Given the description of an element on the screen output the (x, y) to click on. 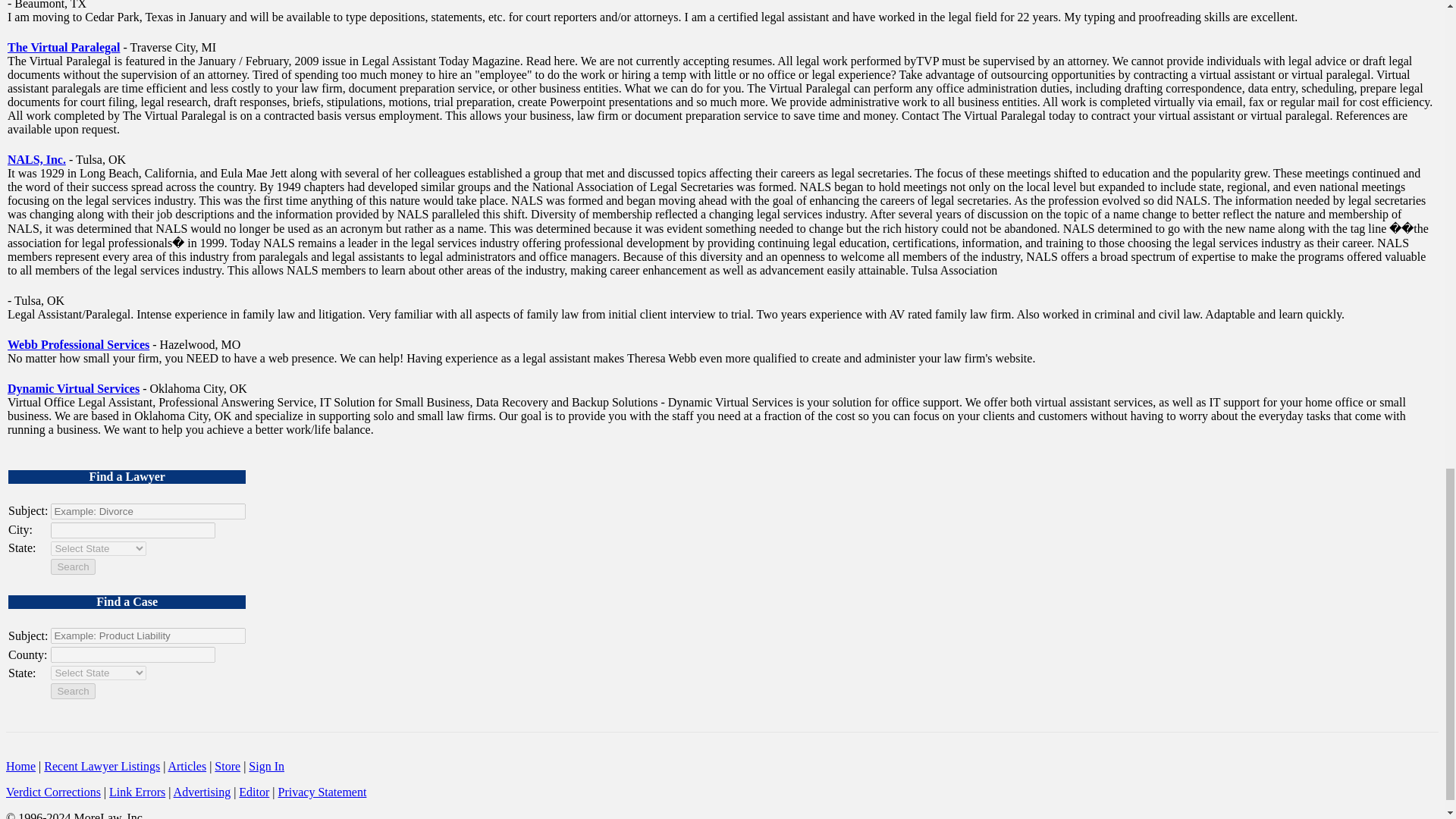
Search (72, 691)
The Virtual Paralegal (63, 47)
Search (72, 566)
NALS, Inc. (36, 159)
Webb Professional Services (78, 344)
